Given the description of an element on the screen output the (x, y) to click on. 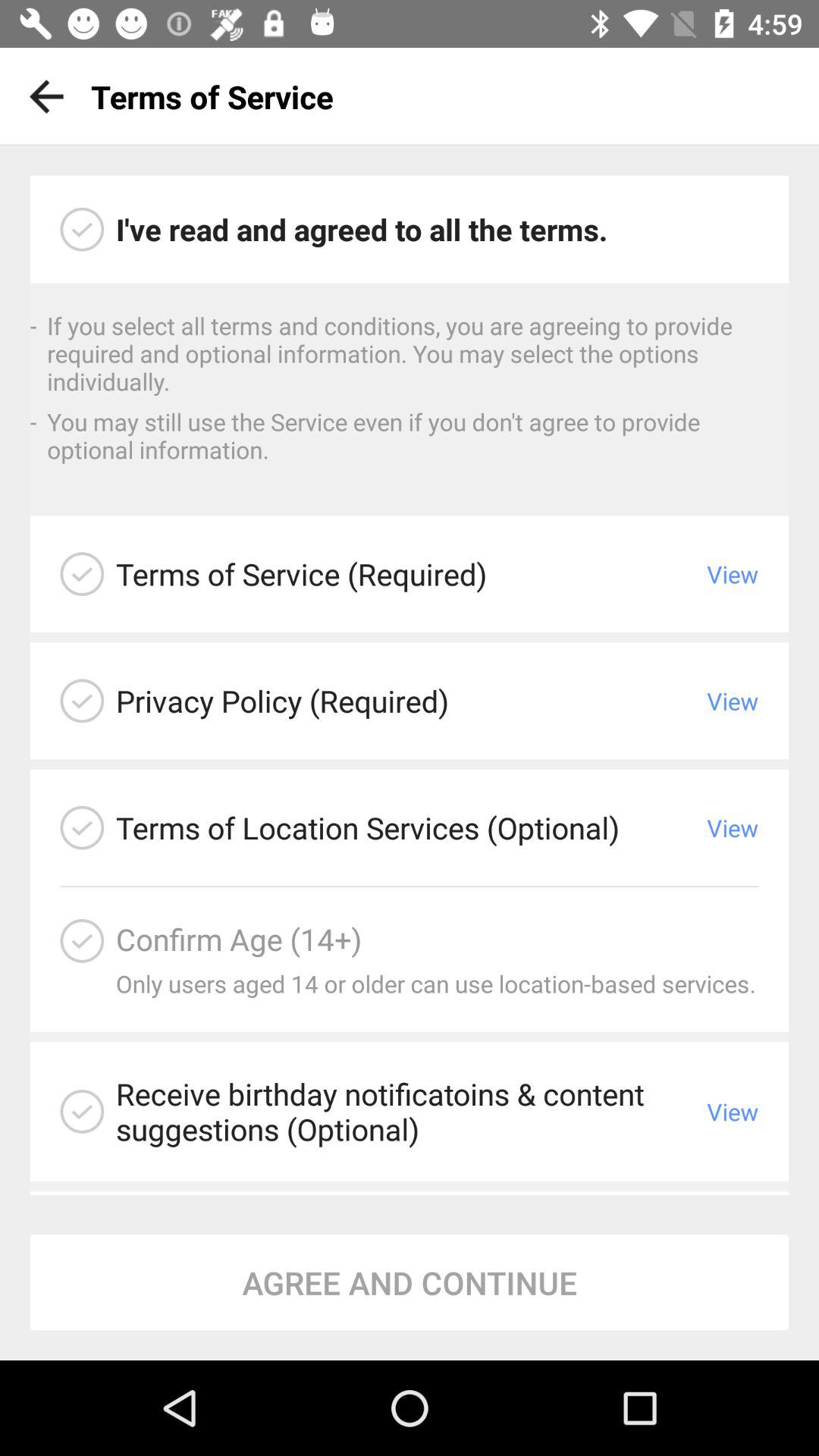
select privacy policy (82, 700)
